Given the description of an element on the screen output the (x, y) to click on. 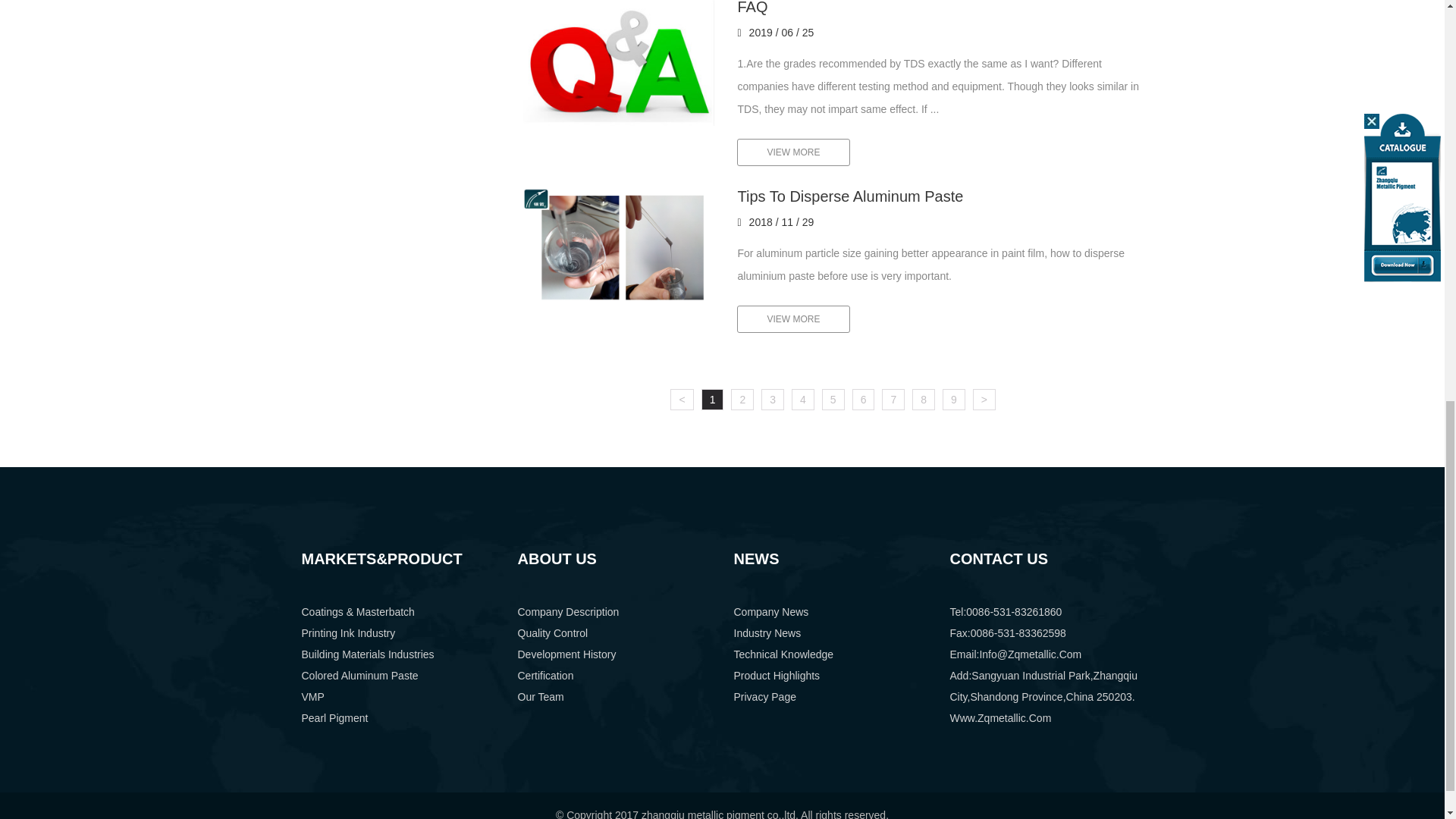
Page 4  (802, 399)
Page 9  (953, 399)
FAQ (618, 63)
Page 8  (923, 399)
Page 2  (742, 399)
Page 5  (833, 399)
Page 3  (772, 399)
Tips To Disperse Aluminum Paste (618, 246)
Page 7  (893, 399)
Page 6  (863, 399)
Is the first page (681, 399)
Next Page (983, 399)
